Given the description of an element on the screen output the (x, y) to click on. 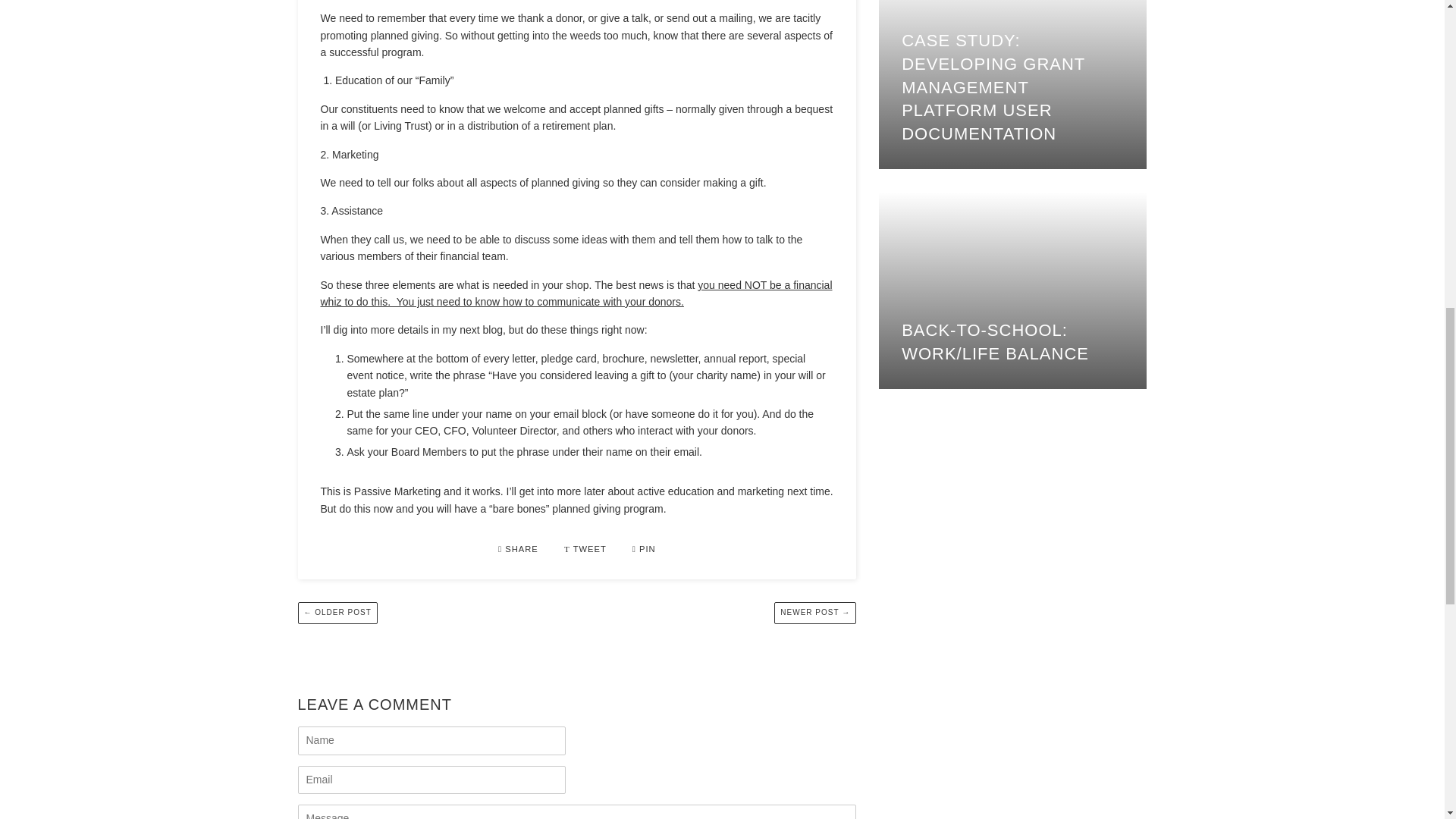
PIN (643, 548)
SHARE (519, 548)
TWEET (587, 548)
